Given the description of an element on the screen output the (x, y) to click on. 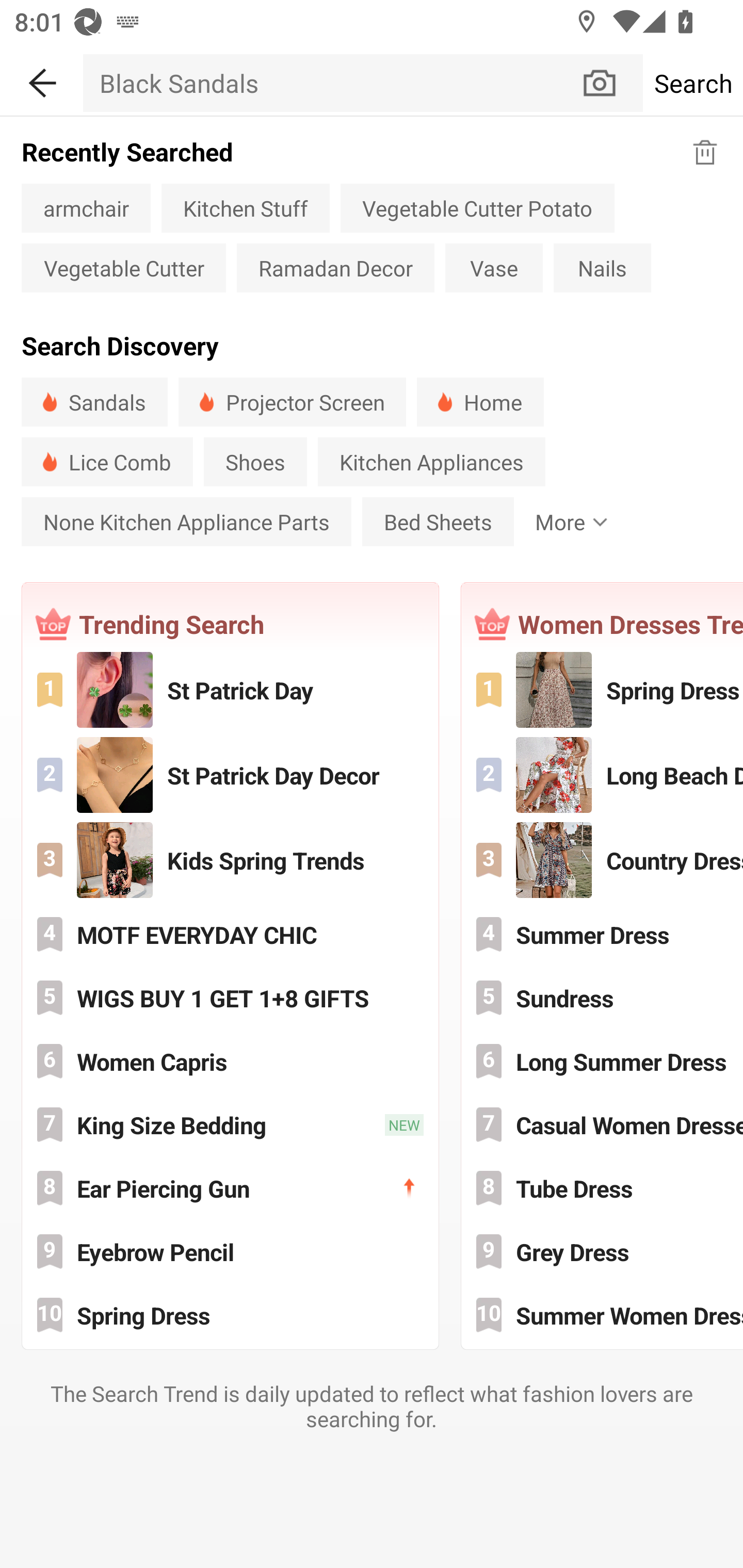
BACK (41, 79)
Black Sandals (331, 82)
Search (692, 82)
armchair (85, 207)
Kitchen Stuff (245, 207)
Vegetable Cutter Potato (477, 207)
Vegetable Cutter (123, 268)
Ramadan Decor (335, 268)
Vase (494, 268)
Nails (601, 268)
Sandals (94, 401)
Projector Screen (292, 401)
Home (479, 401)
Lice Comb (107, 461)
Shoes (254, 461)
Kitchen Appliances (431, 461)
None Kitchen Appliance Parts (186, 521)
Bed Sheets (438, 521)
More Show More (566, 521)
St Patrick Day 1 St Patrick Day (230, 689)
Spring Dress 1 Spring Dress (602, 689)
St Patrick Day Decor 2 St Patrick Day Decor (230, 774)
Long Beach Dress 2 Long Beach Dress (602, 774)
Kids Spring Trends 3 Kids Spring Trends (230, 859)
Country Dress 3 Country Dress (602, 859)
MOTF EVERYDAY CHIC 4 MOTF EVERYDAY CHIC (230, 934)
Summer Dress 4 Summer Dress (602, 934)
Sundress 5 Sundress (602, 997)
Women Capris 6 Women Capris (230, 1061)
Long Summer Dress 6 Long Summer Dress (602, 1061)
King Size Bedding 7 King Size Bedding NEW (230, 1124)
Casual Women Dresses 7 Casual Women Dresses (602, 1124)
Ear Piercing Gun 8 Ear Piercing Gun (230, 1187)
Tube Dress 8 Tube Dress (602, 1187)
Eyebrow Pencil 9 Eyebrow Pencil (230, 1250)
Grey Dress 9 Grey Dress (602, 1250)
Spring Dress 10 Spring Dress (230, 1314)
Summer Women Dresses 10 Summer Women Dresses (602, 1314)
